Given the description of an element on the screen output the (x, y) to click on. 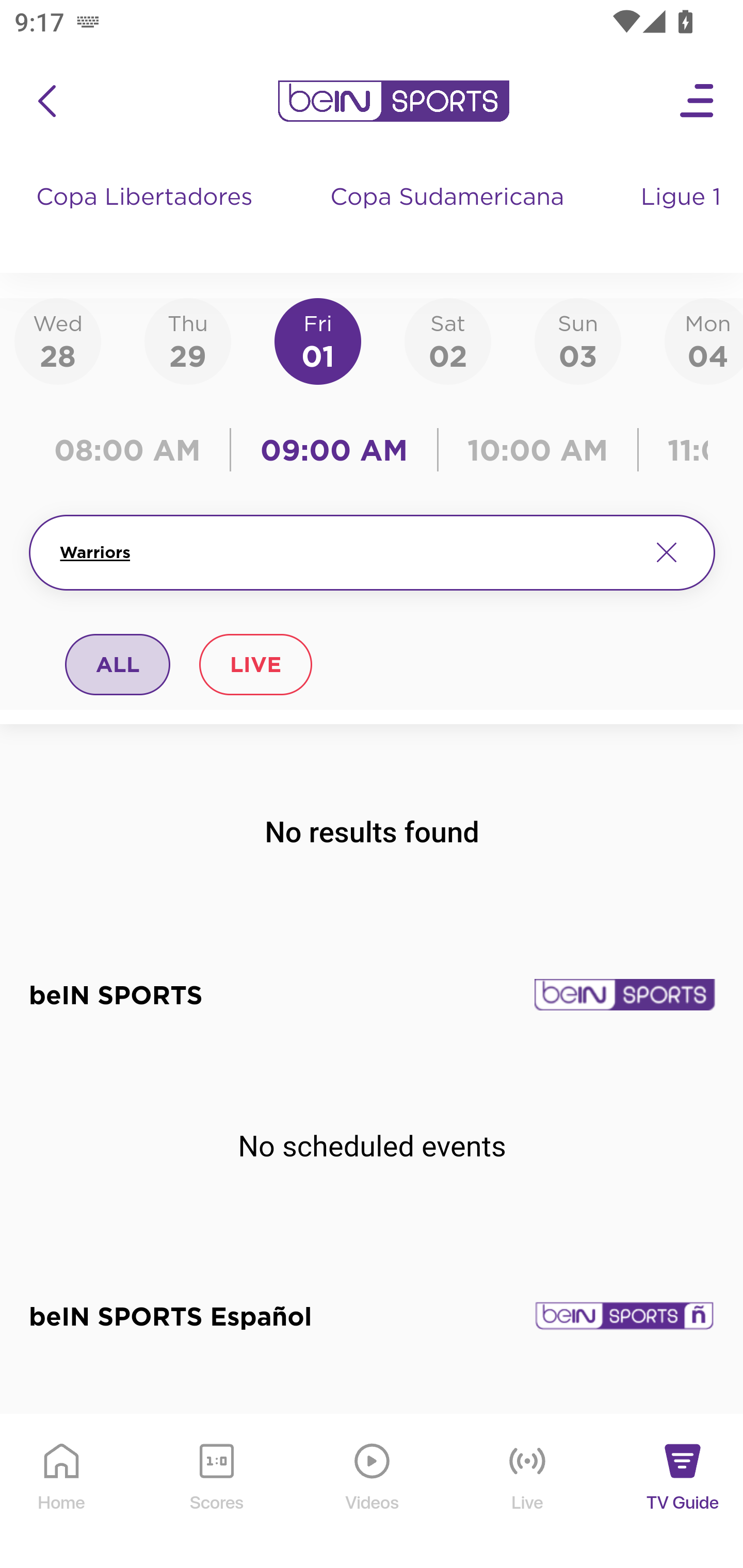
en-us?platform=mobile_android bein logo (392, 101)
icon back (46, 101)
Open Menu Icon (697, 101)
Copa Libertadores (146, 216)
Copa Sudamericana (448, 216)
Ligue 1 (682, 216)
Wed28 (58, 340)
Thu29 (187, 340)
Fri01 (318, 340)
Sat02 (447, 340)
Sun03 (578, 340)
Mon04 (703, 340)
08:00 AM (134, 449)
09:00 AM (334, 449)
10:00 AM (537, 449)
Warriors (346, 552)
ALL (118, 663)
LIVE (255, 663)
Home Home Icon Home (61, 1491)
Scores Scores Icon Scores (216, 1491)
Videos Videos Icon Videos (372, 1491)
TV Guide TV Guide Icon TV Guide (682, 1491)
